Given the description of an element on the screen output the (x, y) to click on. 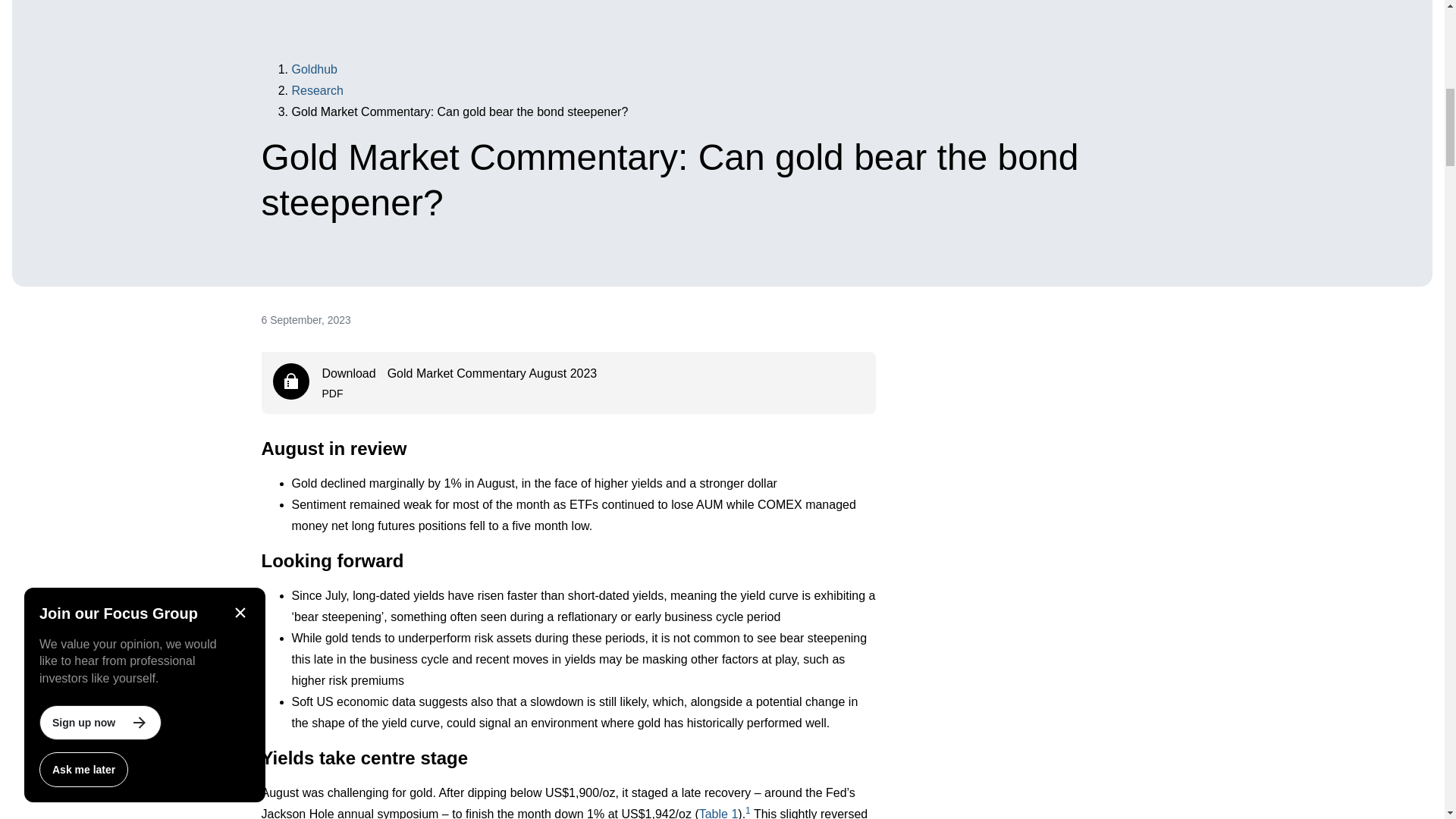
Table 1 (718, 813)
Research (568, 383)
Goldhub (316, 90)
